Given the description of an element on the screen output the (x, y) to click on. 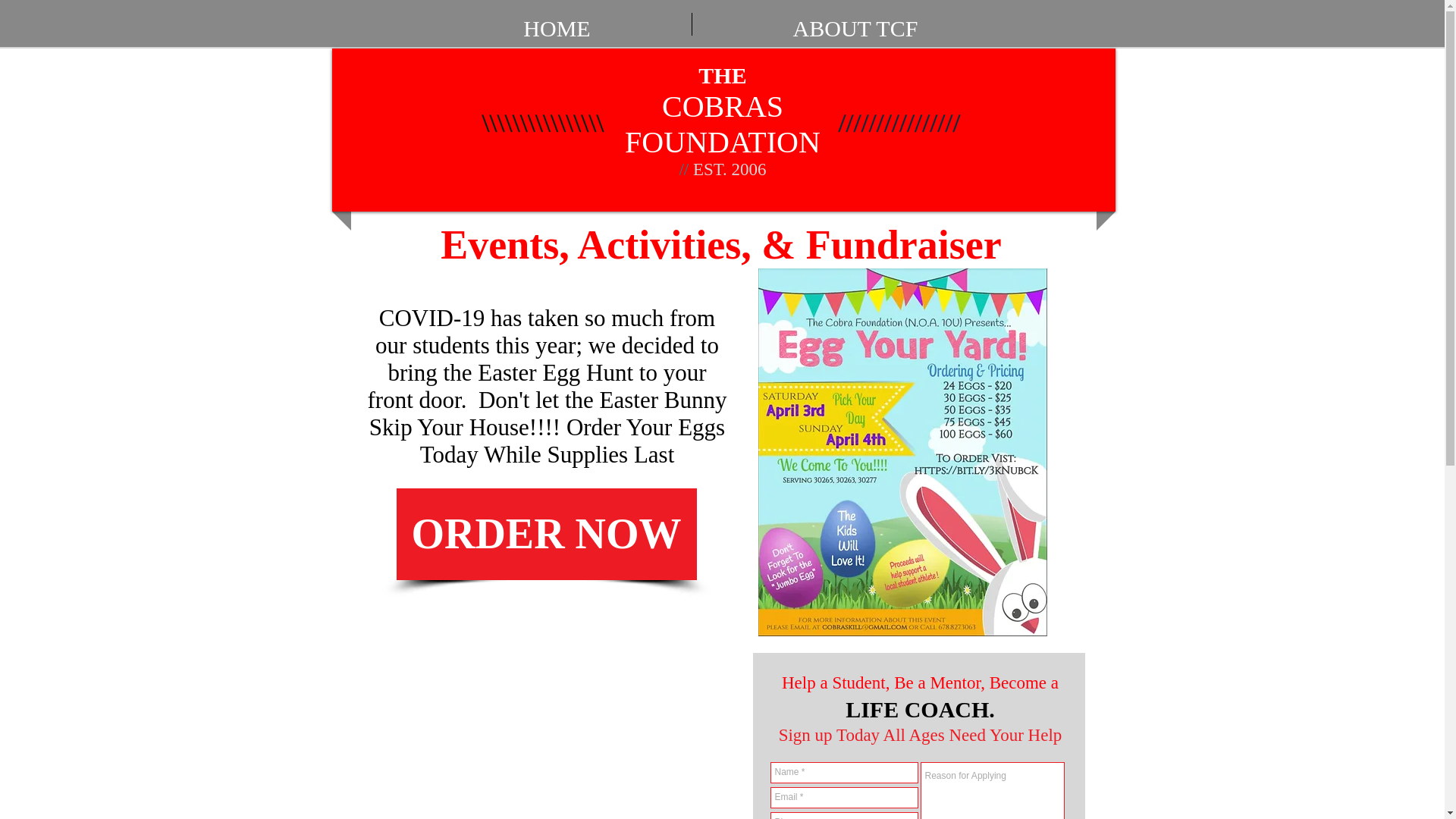
HOME (557, 24)
ABOUT TCF (854, 24)
ORDER NOW (545, 533)
